Given the description of an element on the screen output the (x, y) to click on. 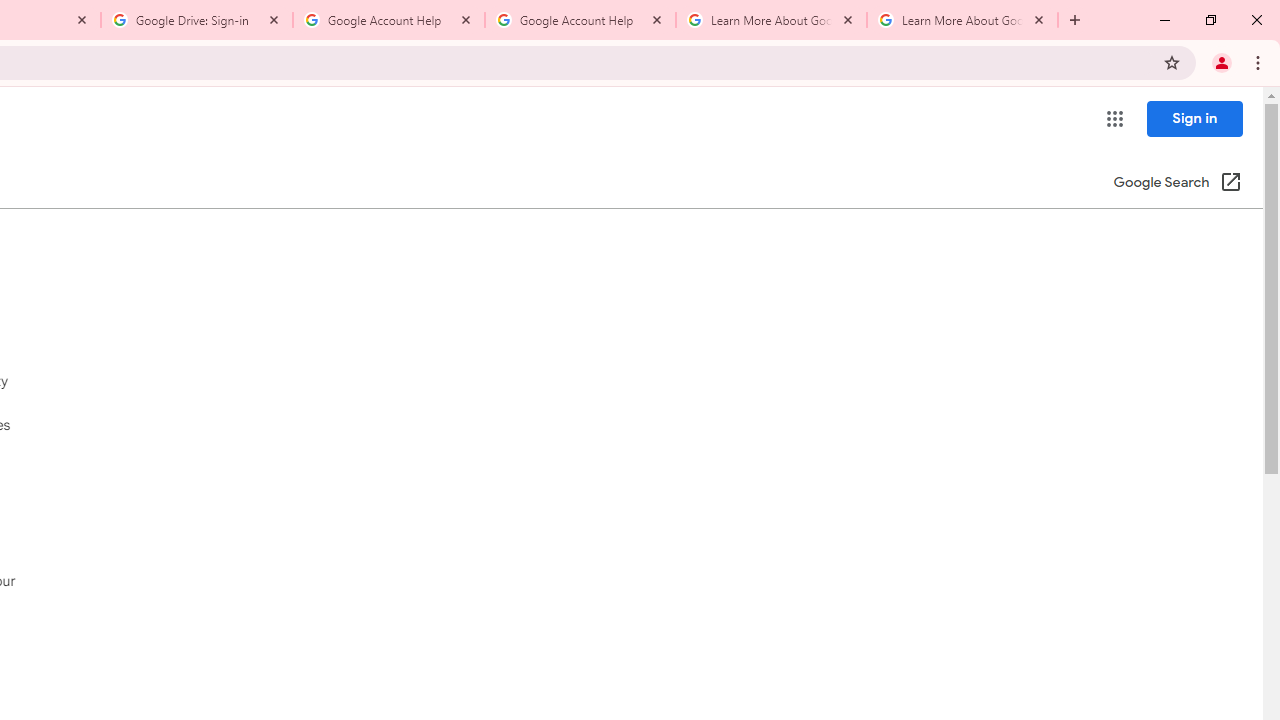
Google Drive: Sign-in (197, 20)
Google Account Help (580, 20)
Google Search (Open in a new window) (1177, 183)
